Given the description of an element on the screen output the (x, y) to click on. 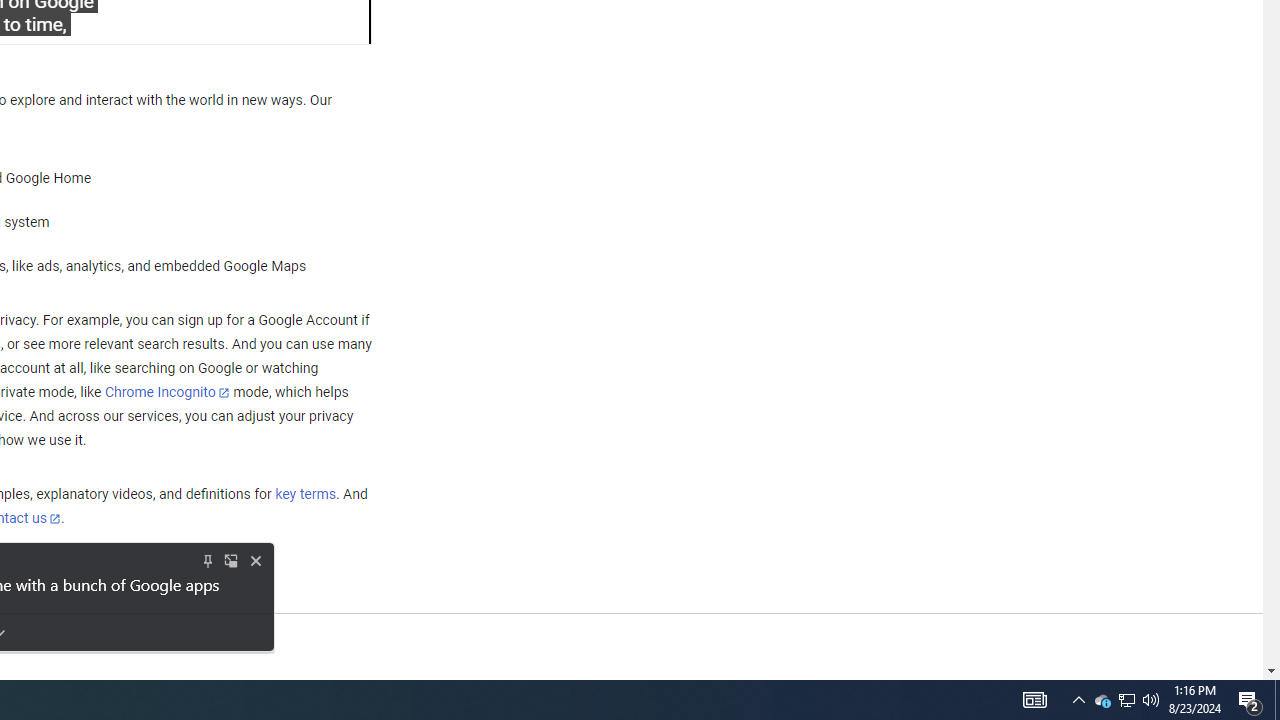
Chrome Incognito (166, 392)
Full screen (f) (338, 22)
Subtitles/closed captions unavailable (191, 22)
key terms (305, 494)
Watch on YouTube (285, 22)
